Given the description of an element on the screen output the (x, y) to click on. 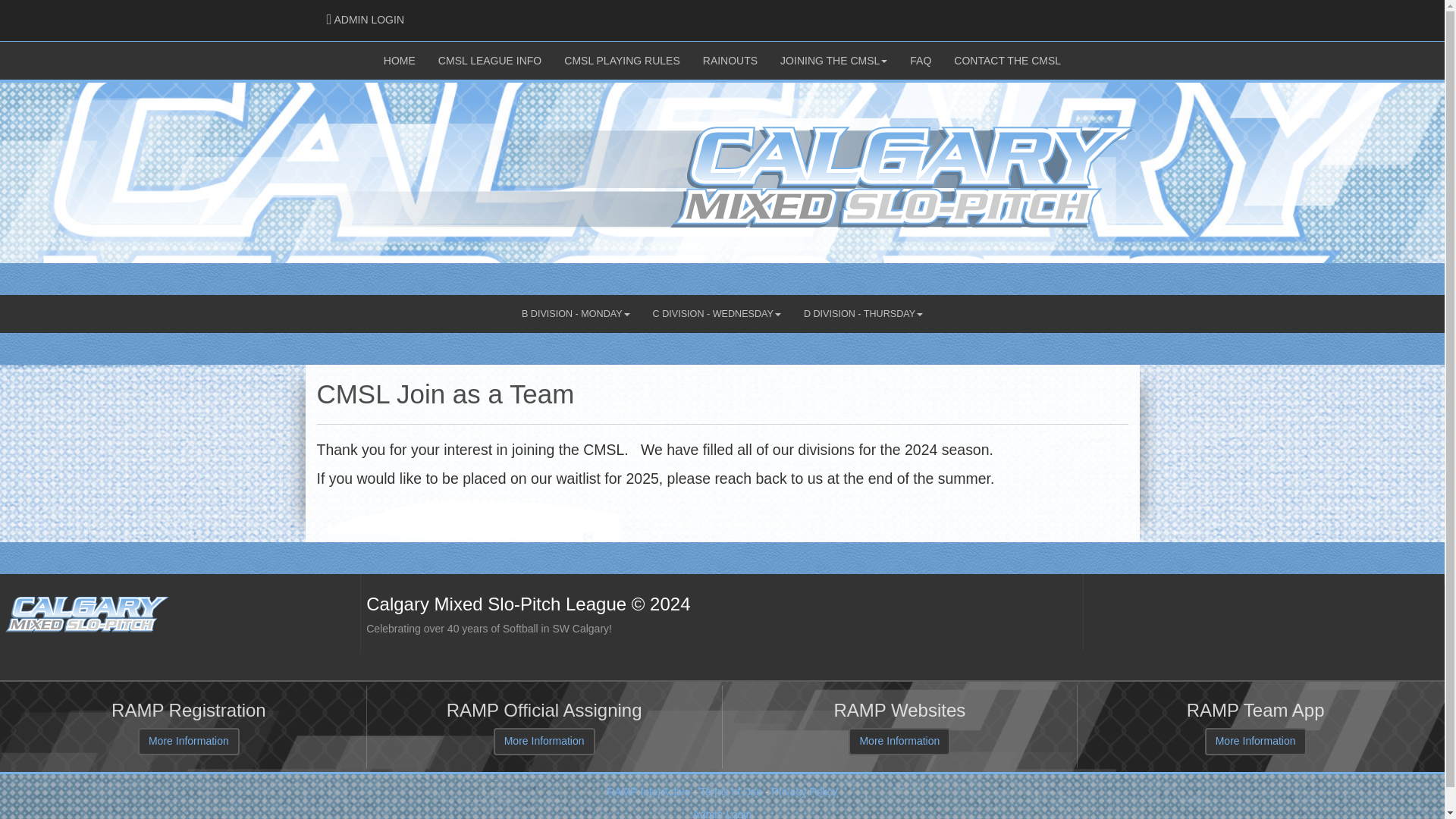
HOME (399, 60)
CMSL LEAGUE INFO (489, 60)
JOINING THE CMSL (833, 60)
FAQ (920, 60)
CONTACT THE CMSL (365, 20)
CMSL PLAYING RULES (1006, 60)
C DIVISION - WEDNESDAY (622, 60)
B DIVISION - MONDAY (717, 313)
RAINOUTS (576, 313)
